Given the description of an element on the screen output the (x, y) to click on. 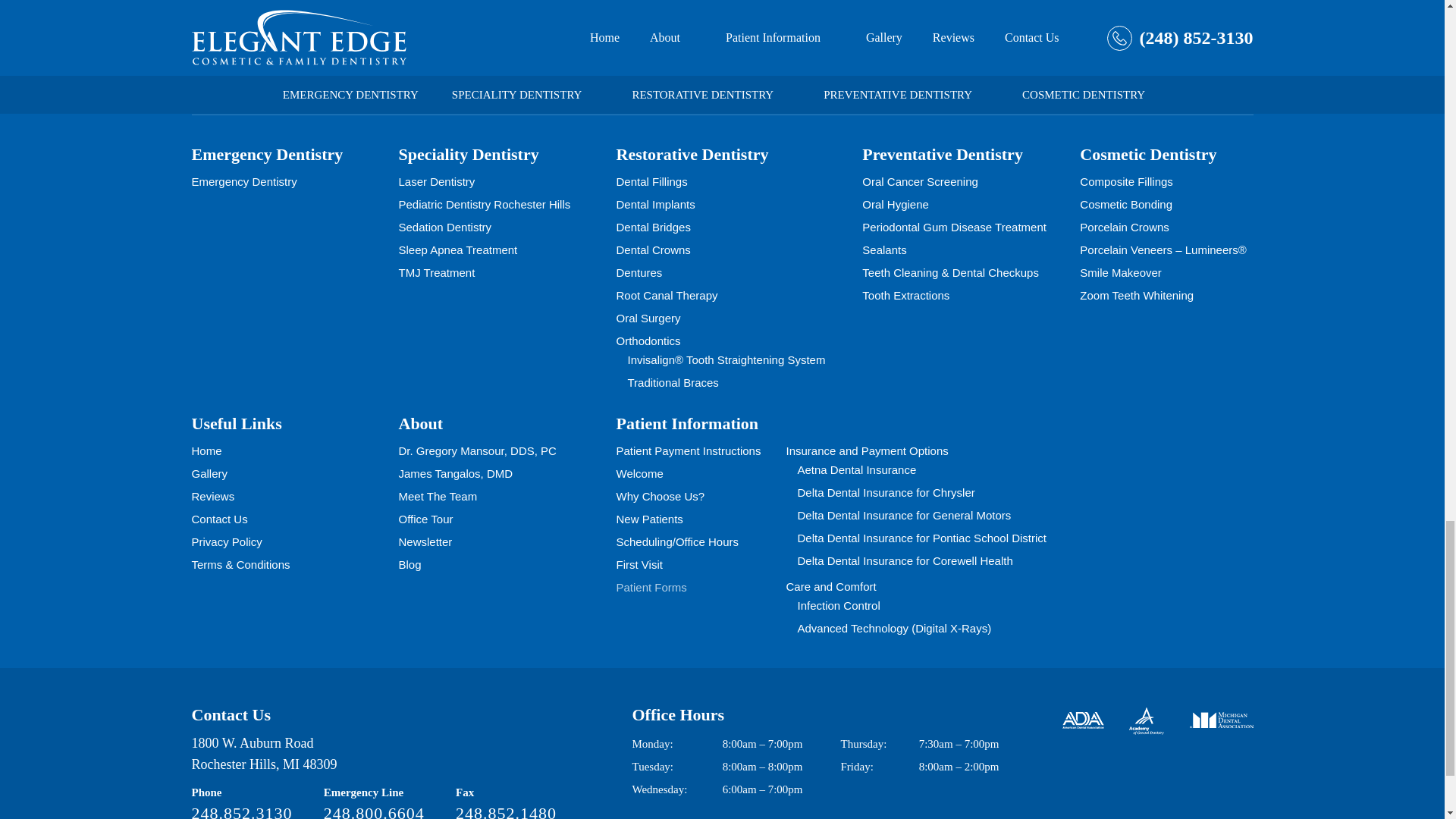
SUBSCRIBE (870, 58)
Follow on X (1026, 56)
Follow on Instagram (1072, 56)
Follow on LinkedIn (1162, 56)
